Given the description of an element on the screen output the (x, y) to click on. 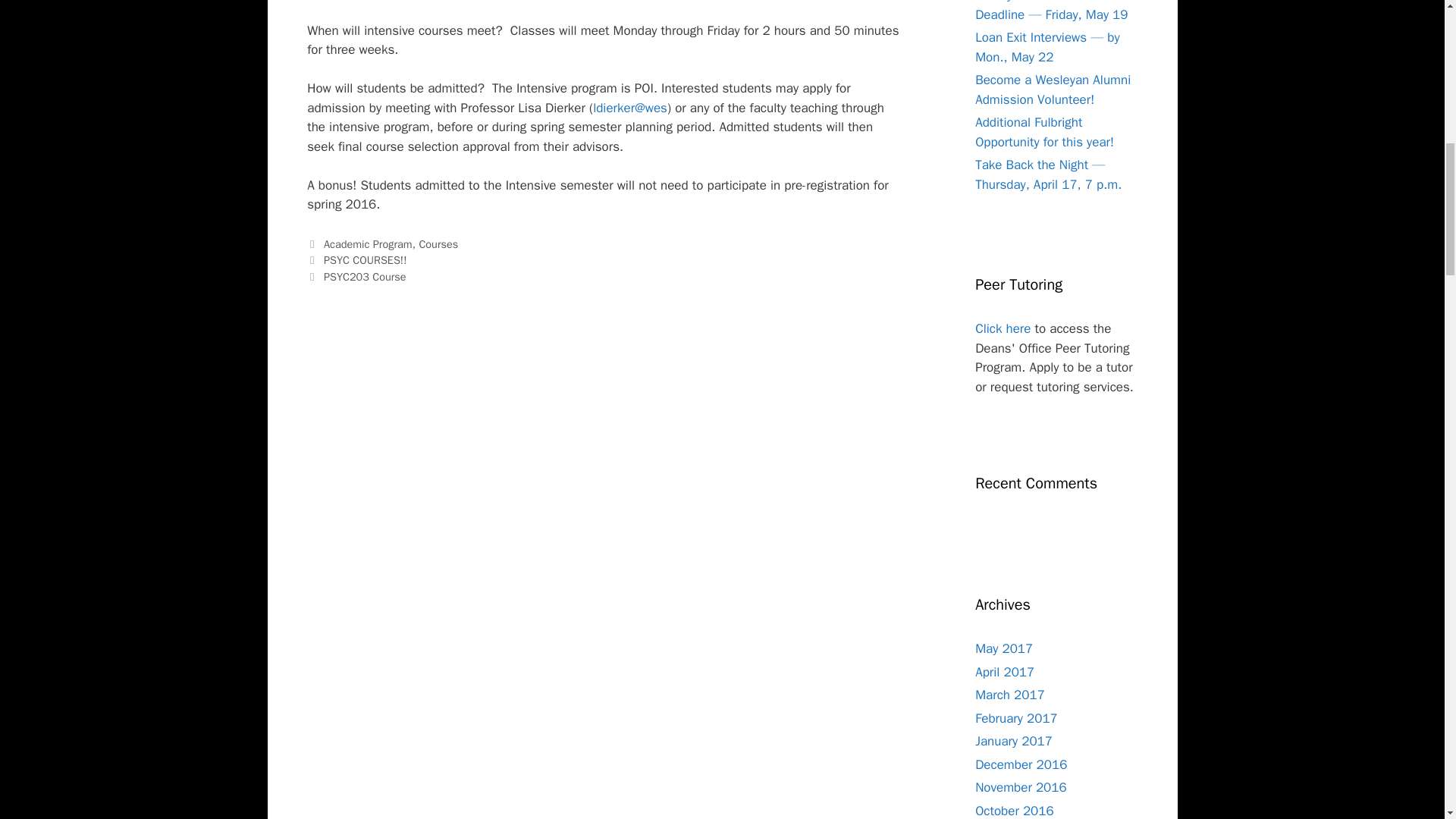
Academic Program (367, 243)
PSYC203 Course (364, 276)
Additional Fulbright Opportunity for this year! (1044, 131)
PSYC COURSES!! (365, 259)
Courses (438, 243)
Become a Wesleyan Alumni Admission Volunteer! (1053, 89)
